Given the description of an element on the screen output the (x, y) to click on. 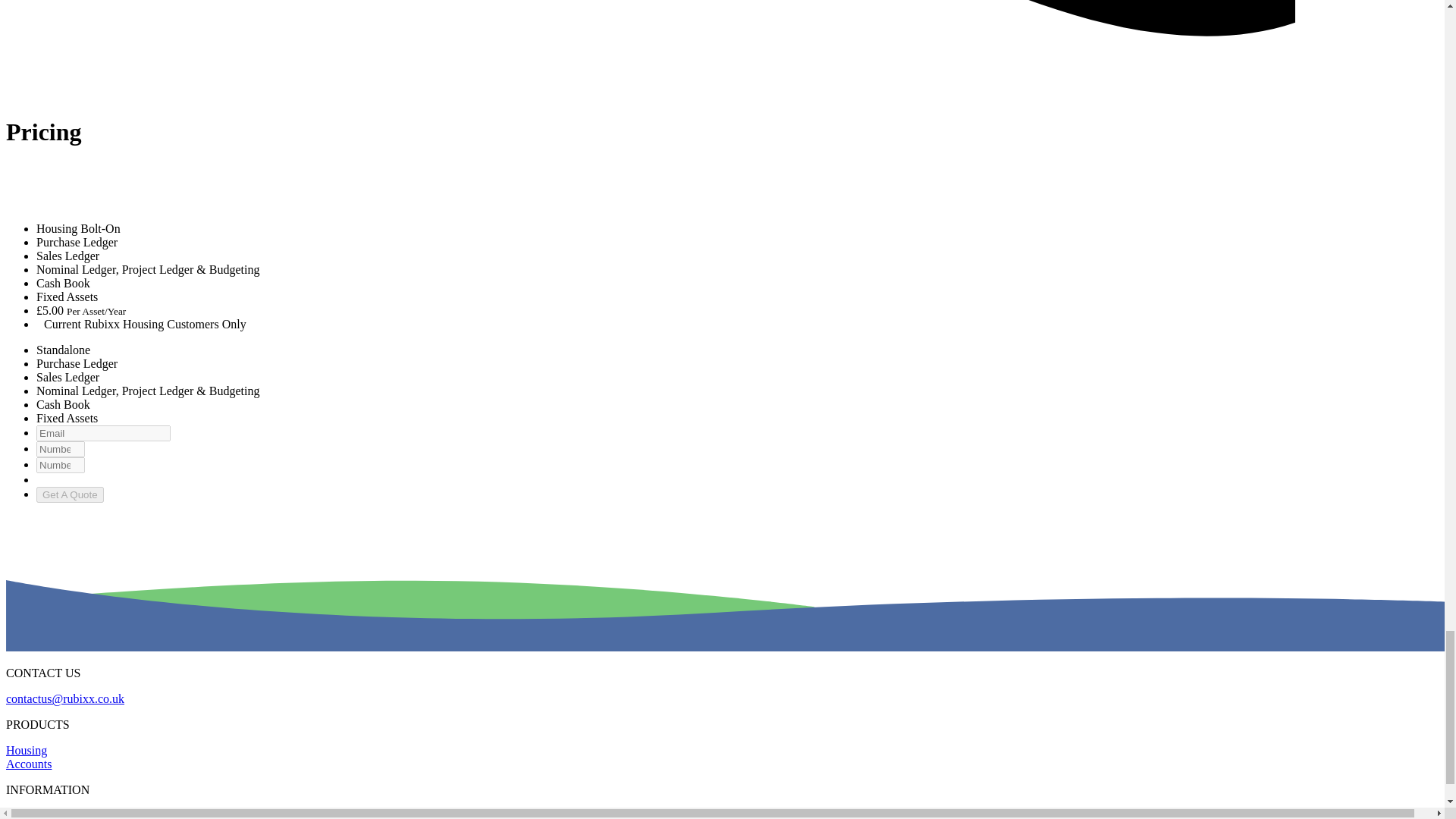
Accounts (27, 763)
Privacy Policy (41, 814)
Housing (25, 749)
Get A Quote (69, 494)
